Given the description of an element on the screen output the (x, y) to click on. 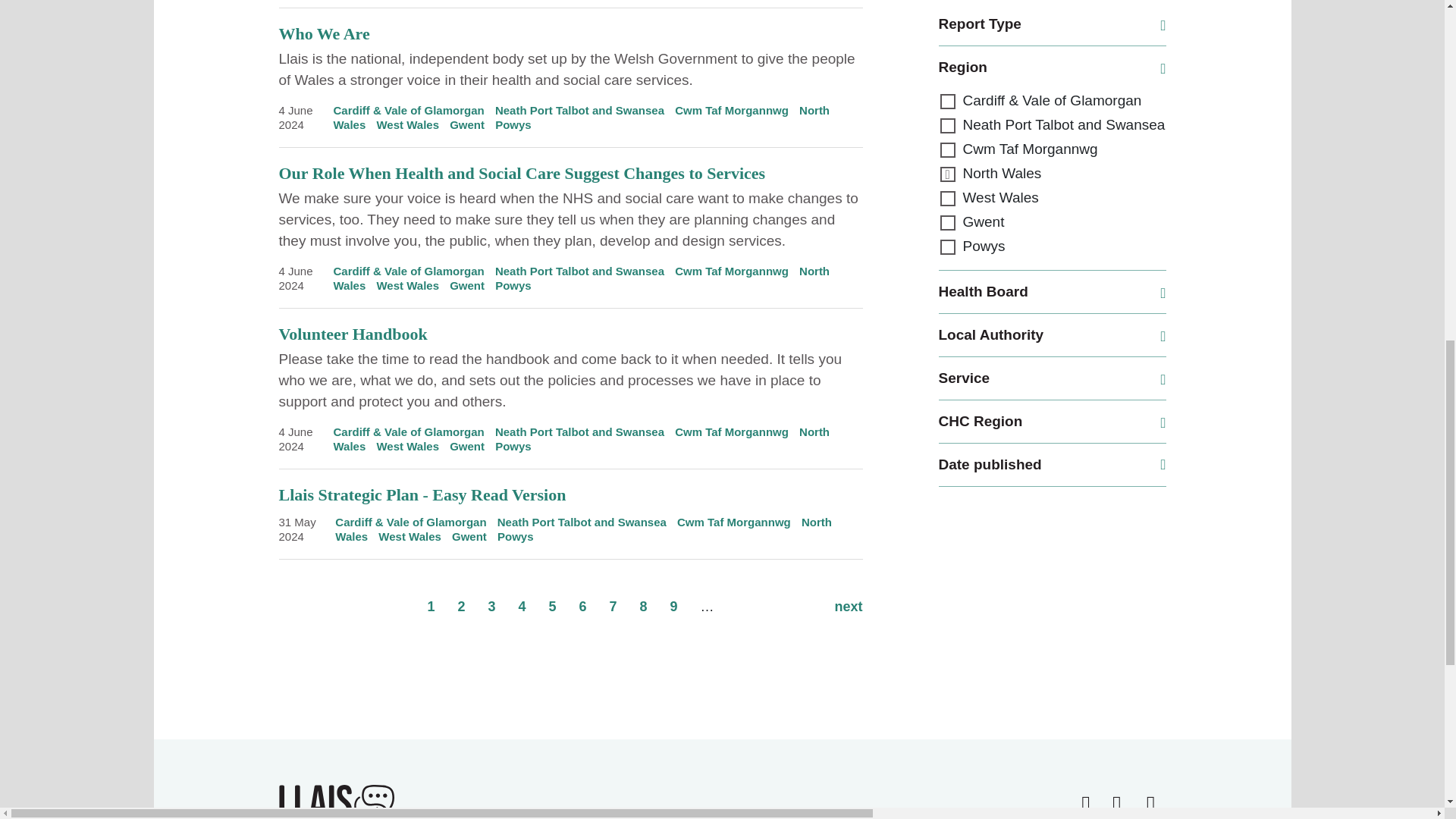
Go to next page (847, 606)
